Given the description of an element on the screen output the (x, y) to click on. 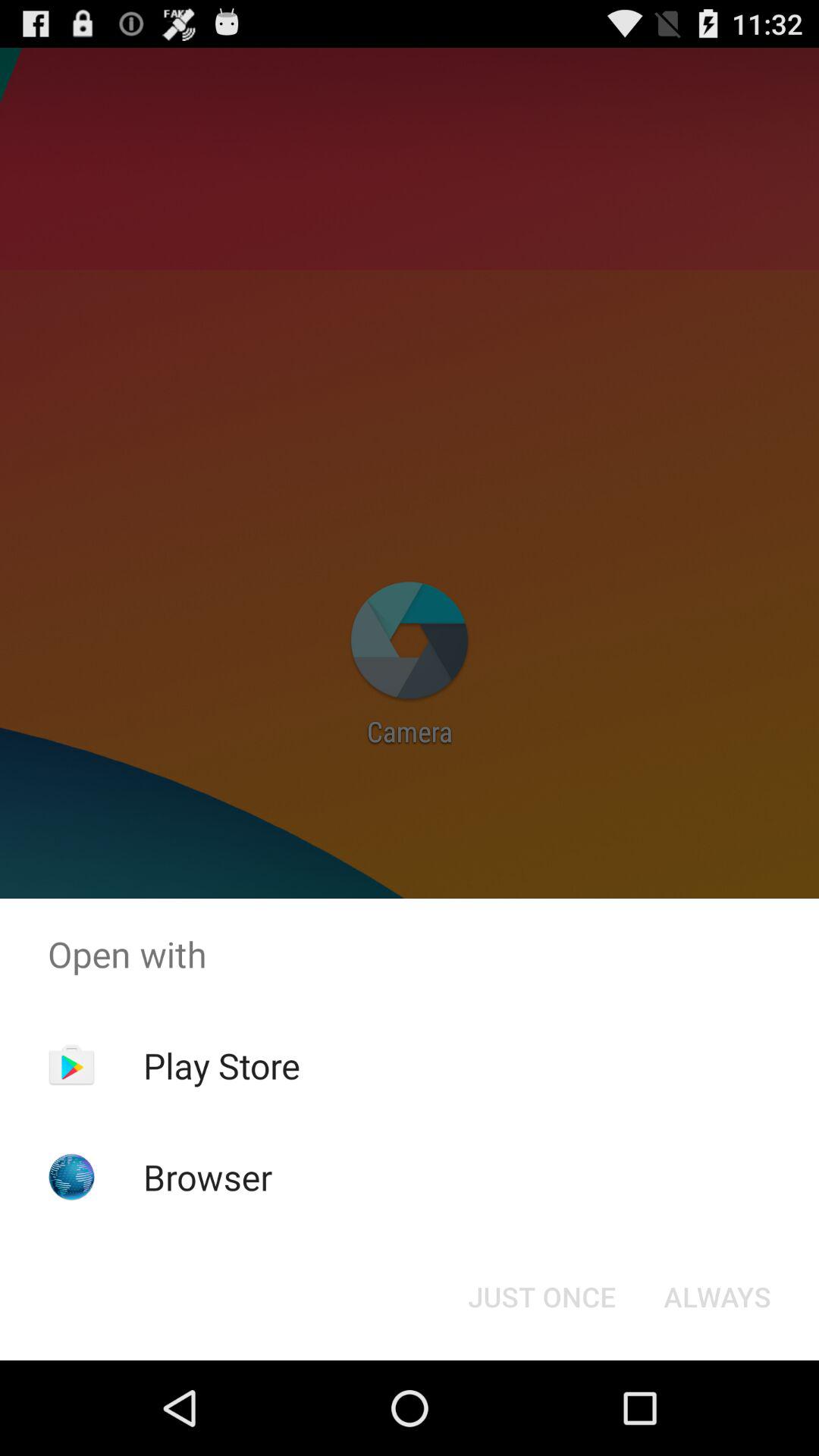
scroll to play store (221, 1065)
